Given the description of an element on the screen output the (x, y) to click on. 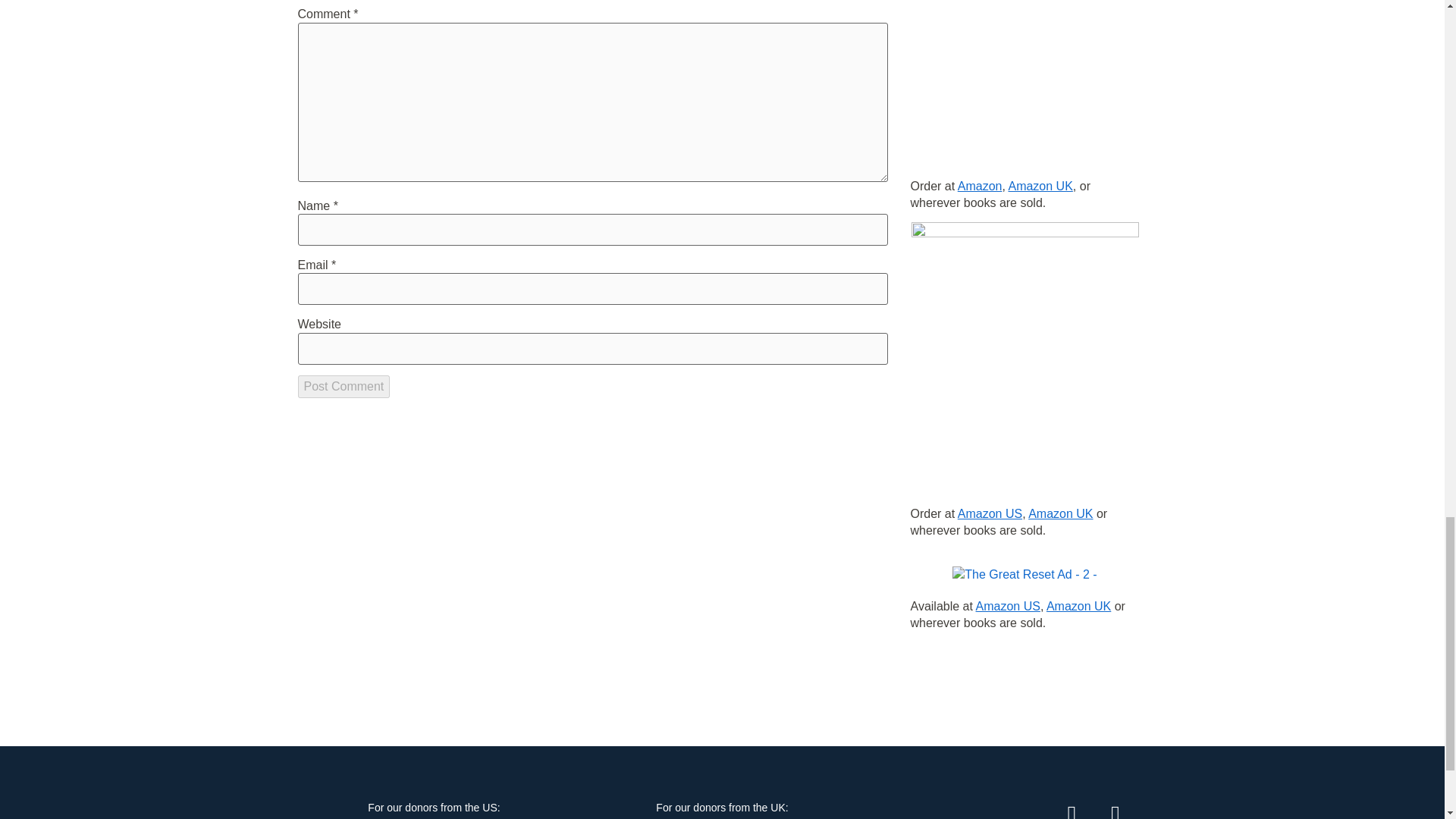
Post Comment (343, 386)
